Given the description of an element on the screen output the (x, y) to click on. 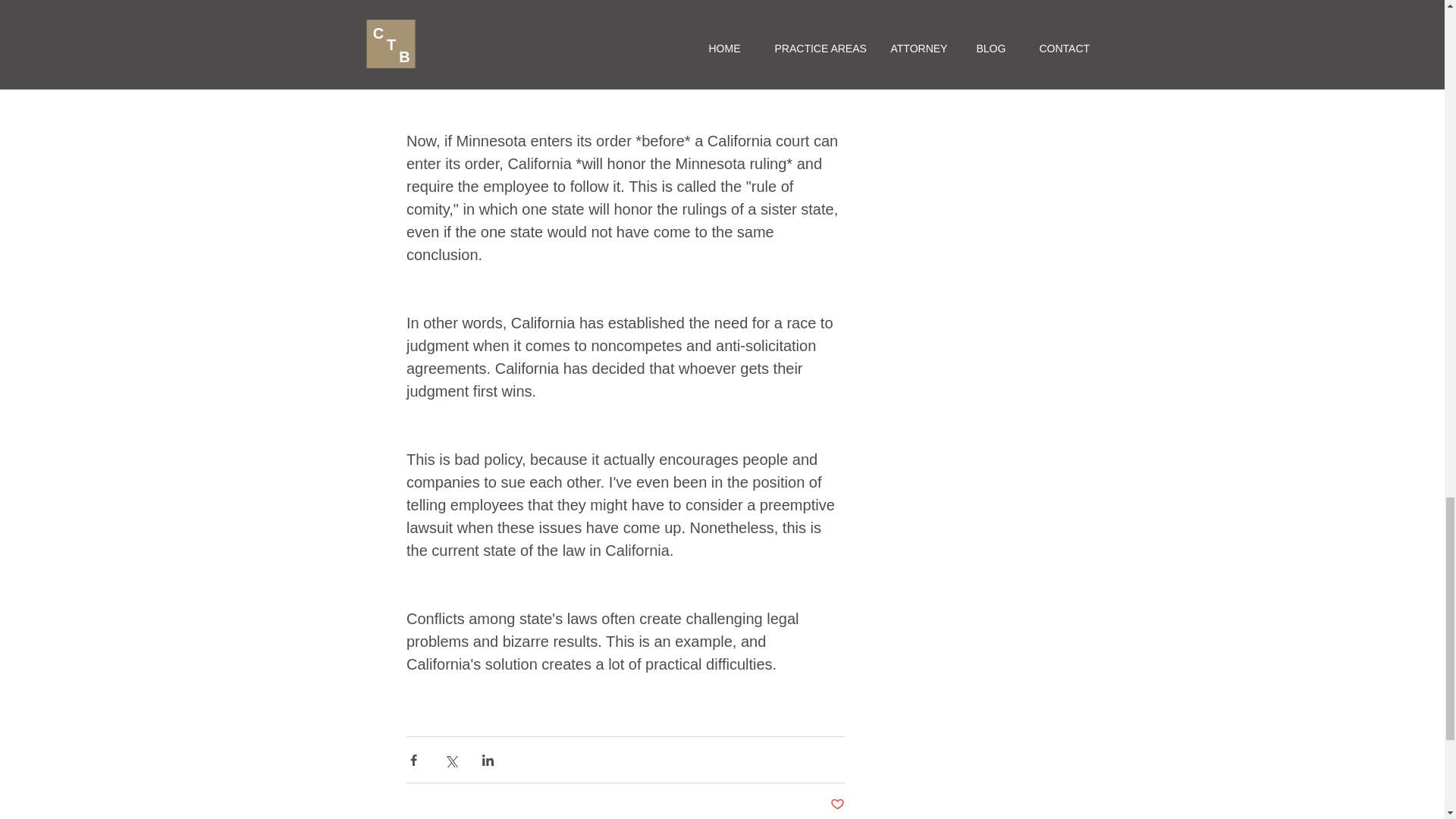
Post not marked as liked (836, 804)
